Given the description of an element on the screen output the (x, y) to click on. 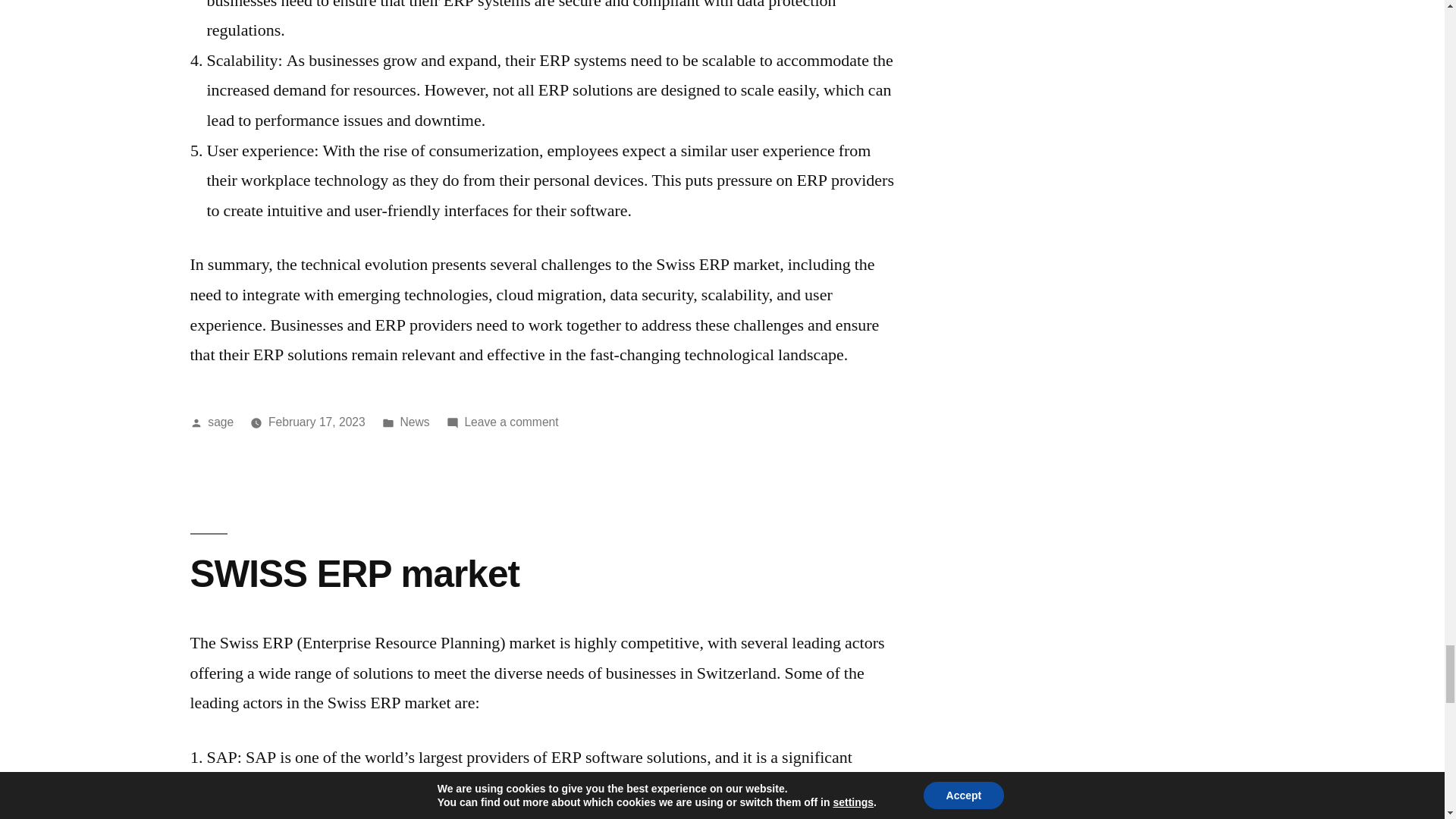
News (414, 421)
SWISS ERP market (353, 573)
sage (510, 421)
February 17, 2023 (220, 421)
